Given the description of an element on the screen output the (x, y) to click on. 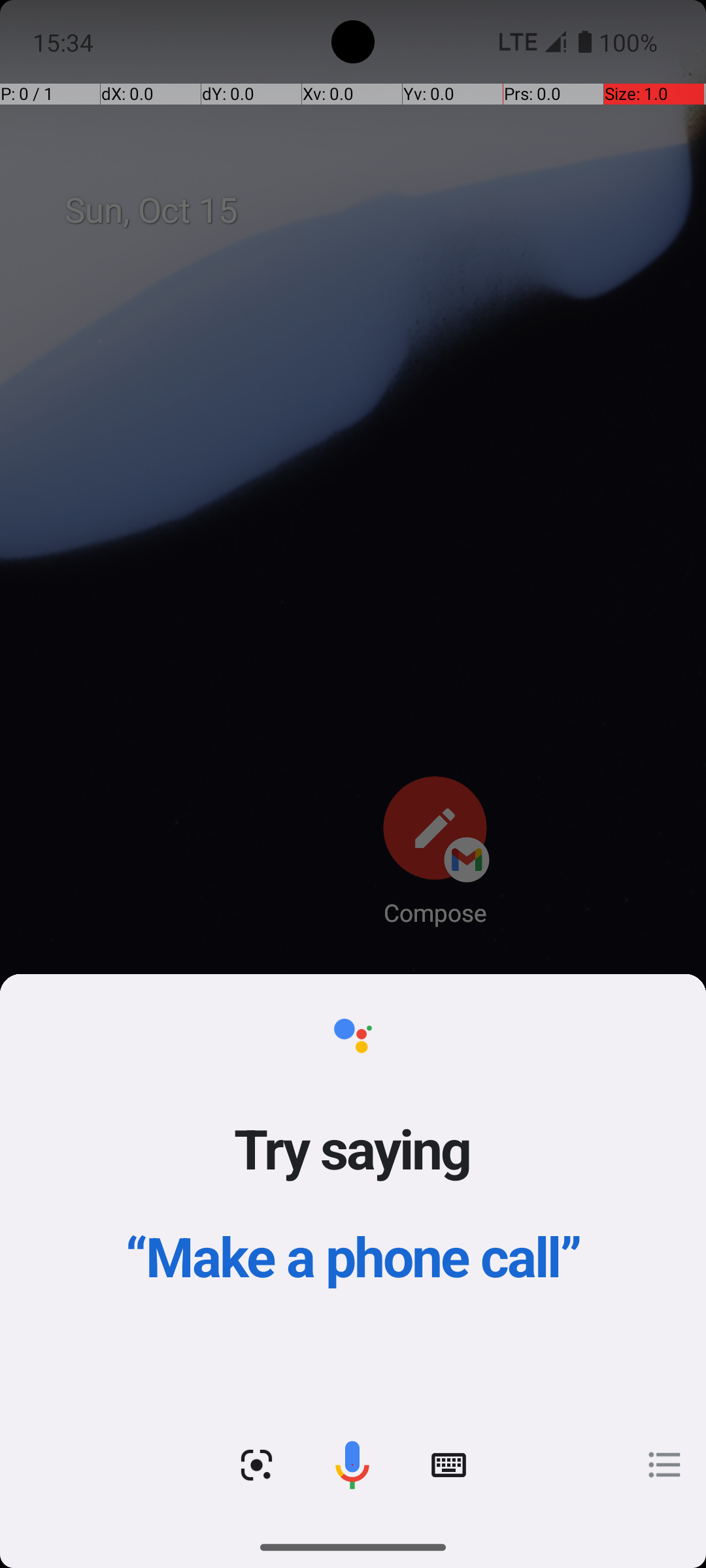
Tap to dismiss Assistant Element type: android.view.ViewGroup (353, 804)
Google Assistant widget. Element type: android.support.v7.widget.RecyclerView (353, 1250)
Google Assistant greeting container. Element type: android.widget.LinearLayout (353, 1188)
Voice search button, tap to speak Element type: android.view.View (351, 1465)
Type mode Element type: android.widget.ImageView (448, 1465)
Google Assistant greeting. Element type: android.widget.FrameLayout (353, 1250)
Open explore page Element type: android.widget.ImageView (664, 1464)
Try saying Element type: android.widget.TextView (352, 1147)
“Make a phone call” Element type: android.widget.TextView (352, 1255)
